Given the description of an element on the screen output the (x, y) to click on. 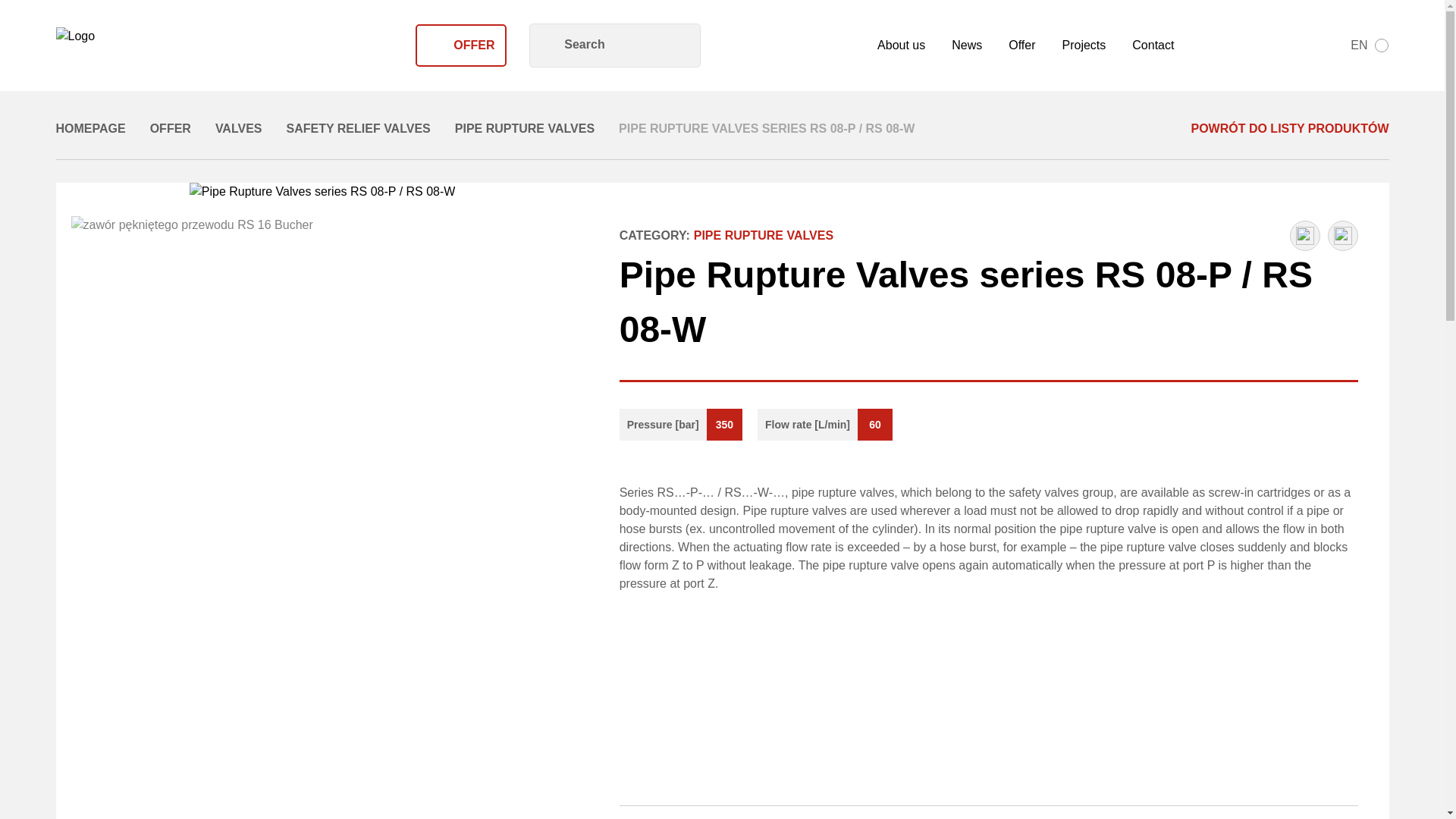
HYDROMAR (140, 45)
OFFER (460, 45)
Wydrukuj (814, 44)
